Given the description of an element on the screen output the (x, y) to click on. 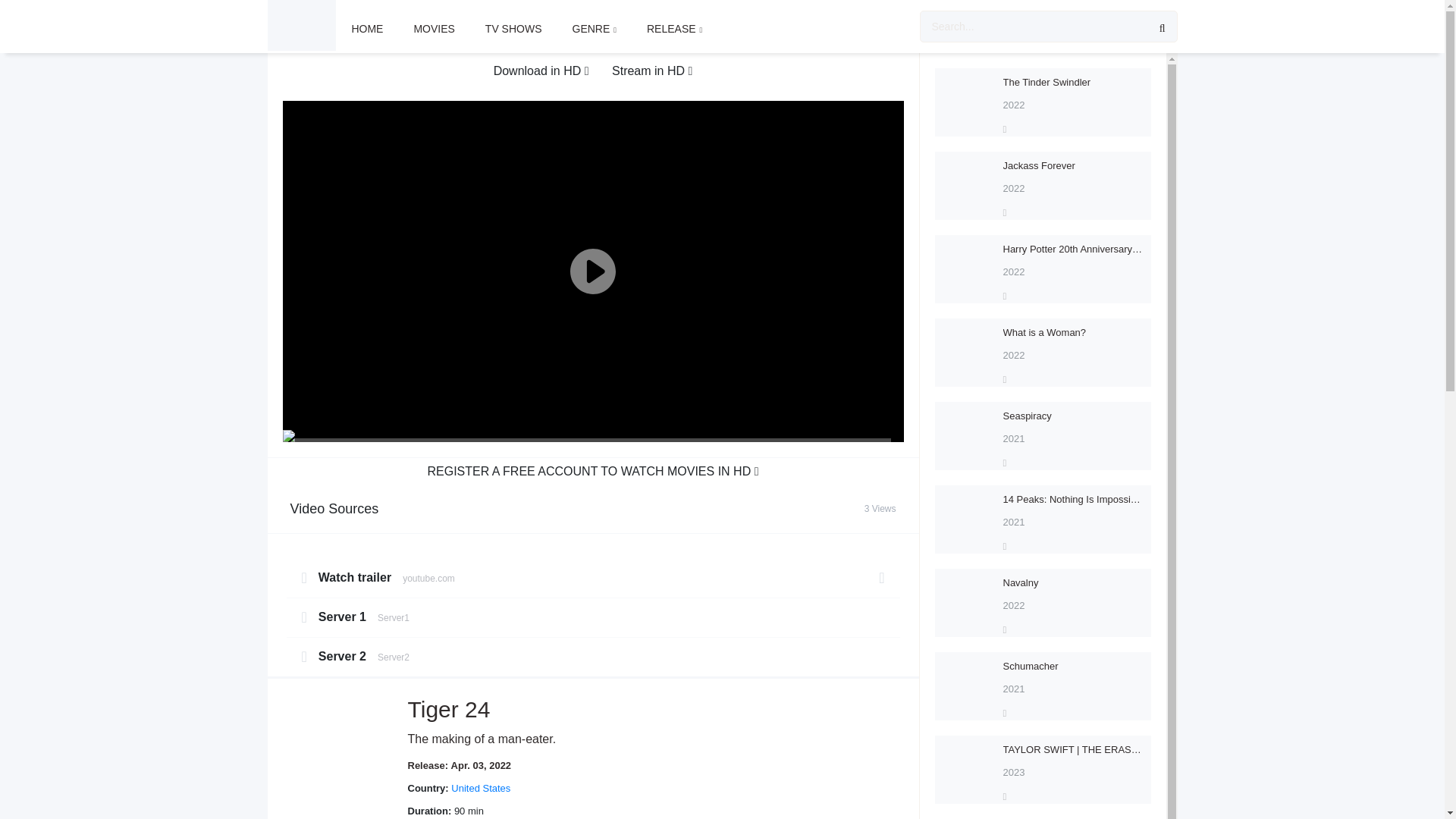
RELEASE (674, 29)
TV SHOWS (513, 29)
HOME (366, 29)
GENRE (592, 607)
MOVIES (594, 29)
